Given the description of an element on the screen output the (x, y) to click on. 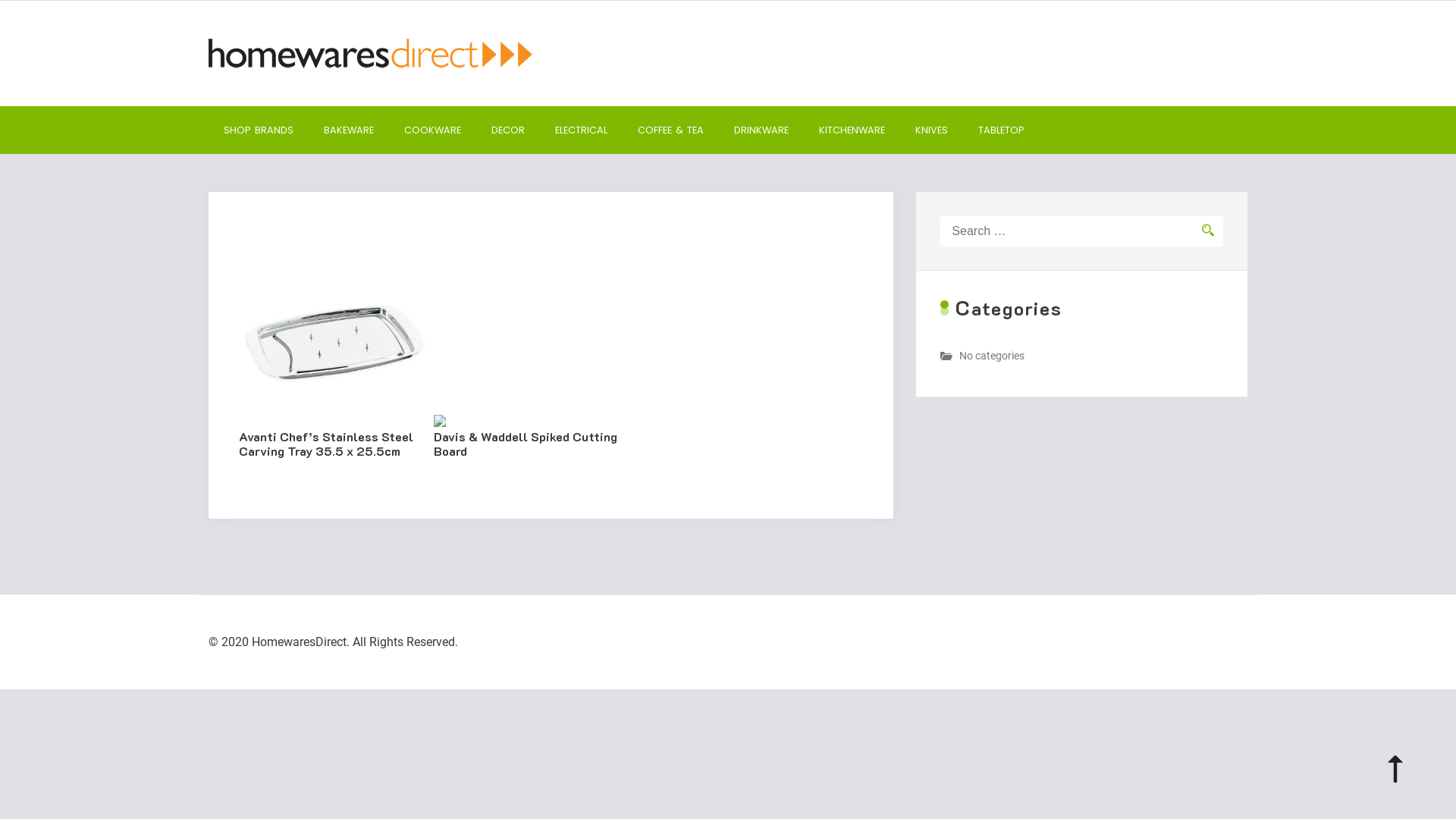
SHOP BRANDS Element type: text (258, 129)
Search Element type: text (1209, 231)
TABLETOP Element type: text (1001, 129)
Davis & Waddell Spiked Cutting Board Element type: text (529, 434)
COFFEE & TEA Element type: text (670, 129)
COOKWARE Element type: text (432, 129)
ELECTRICAL Element type: text (580, 129)
DRINKWARE Element type: text (760, 129)
KNIVES Element type: text (931, 129)
DECOR Element type: text (507, 129)
KITCHENWARE Element type: text (851, 129)
BAKEWARE Element type: text (348, 129)
